Given the description of an element on the screen output the (x, y) to click on. 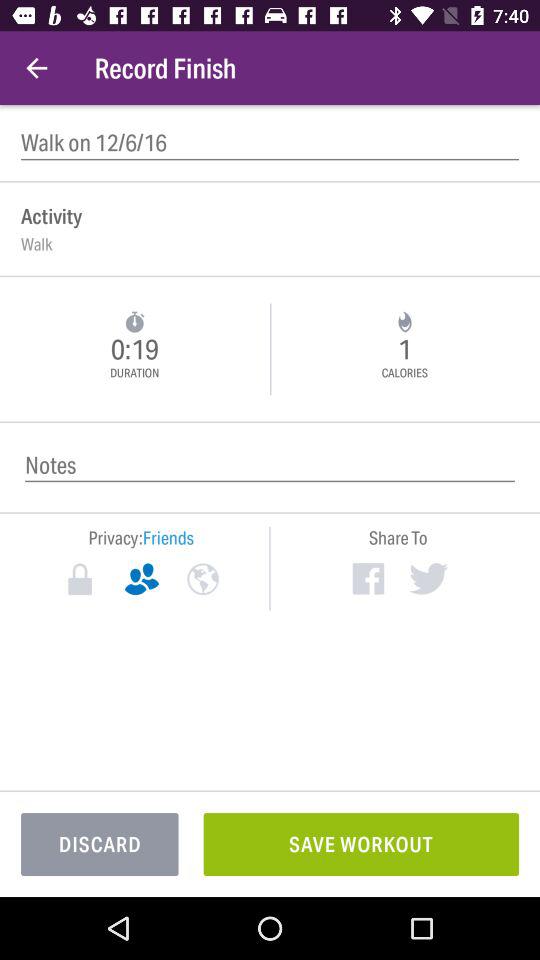
launch the discard item (99, 844)
